Given the description of an element on the screen output the (x, y) to click on. 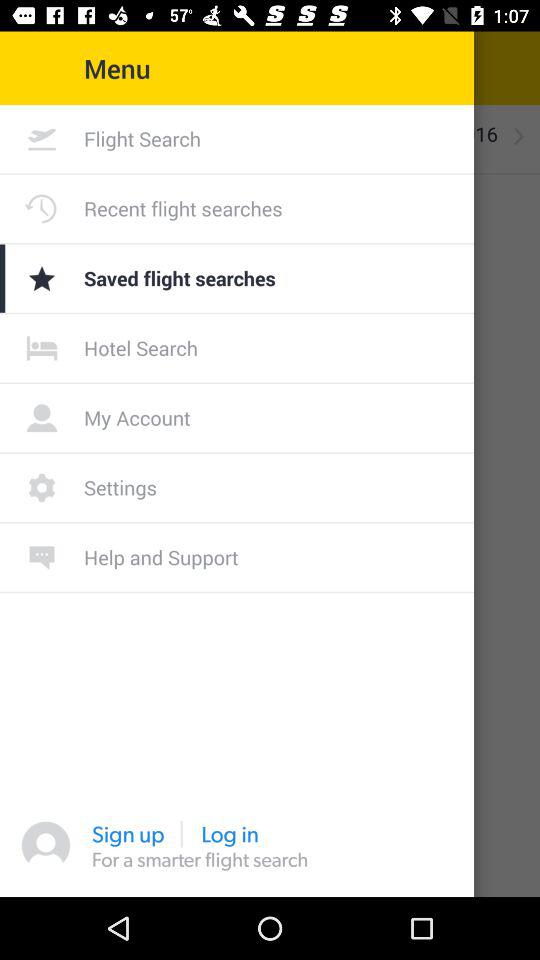
click on icon left to settings (42, 487)
click the icon of profile in my account (42, 417)
go to icon beside recent flight searches (42, 209)
